Given the description of an element on the screen output the (x, y) to click on. 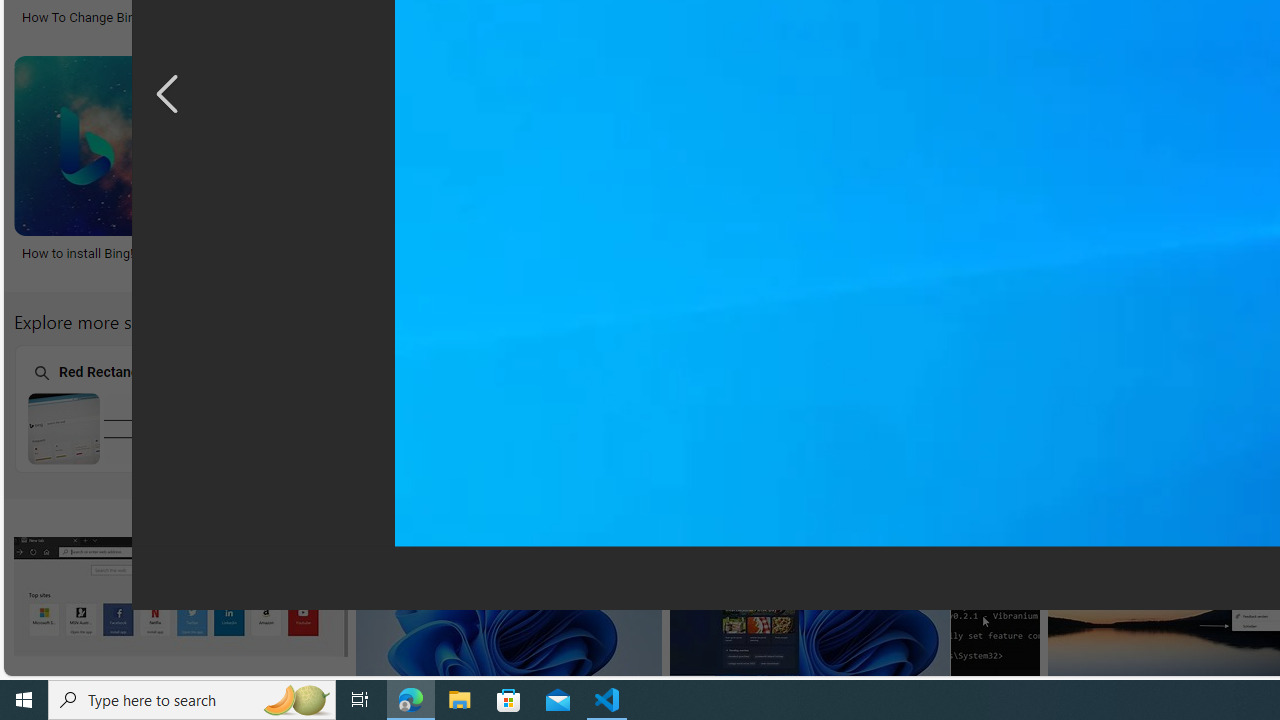
Enter Key (651, 407)
Home Screen (907, 407)
Install Bing In Windows 10 - Image to uSave (488, 169)
Bing Search Bar Enter Key Enter Key (651, 408)
How to Use Bing Visual Search on Windows Search Bar (766, 260)
Image result for Bing Search Bar Install (508, 596)
How to install Bing!Save (167, 169)
Bing Search Bar Special Characters (396, 428)
How to Use Bing Visual Search on Windows Search Bar (766, 260)
Red Rectangle (138, 407)
Special Characters (395, 407)
